Given the description of an element on the screen output the (x, y) to click on. 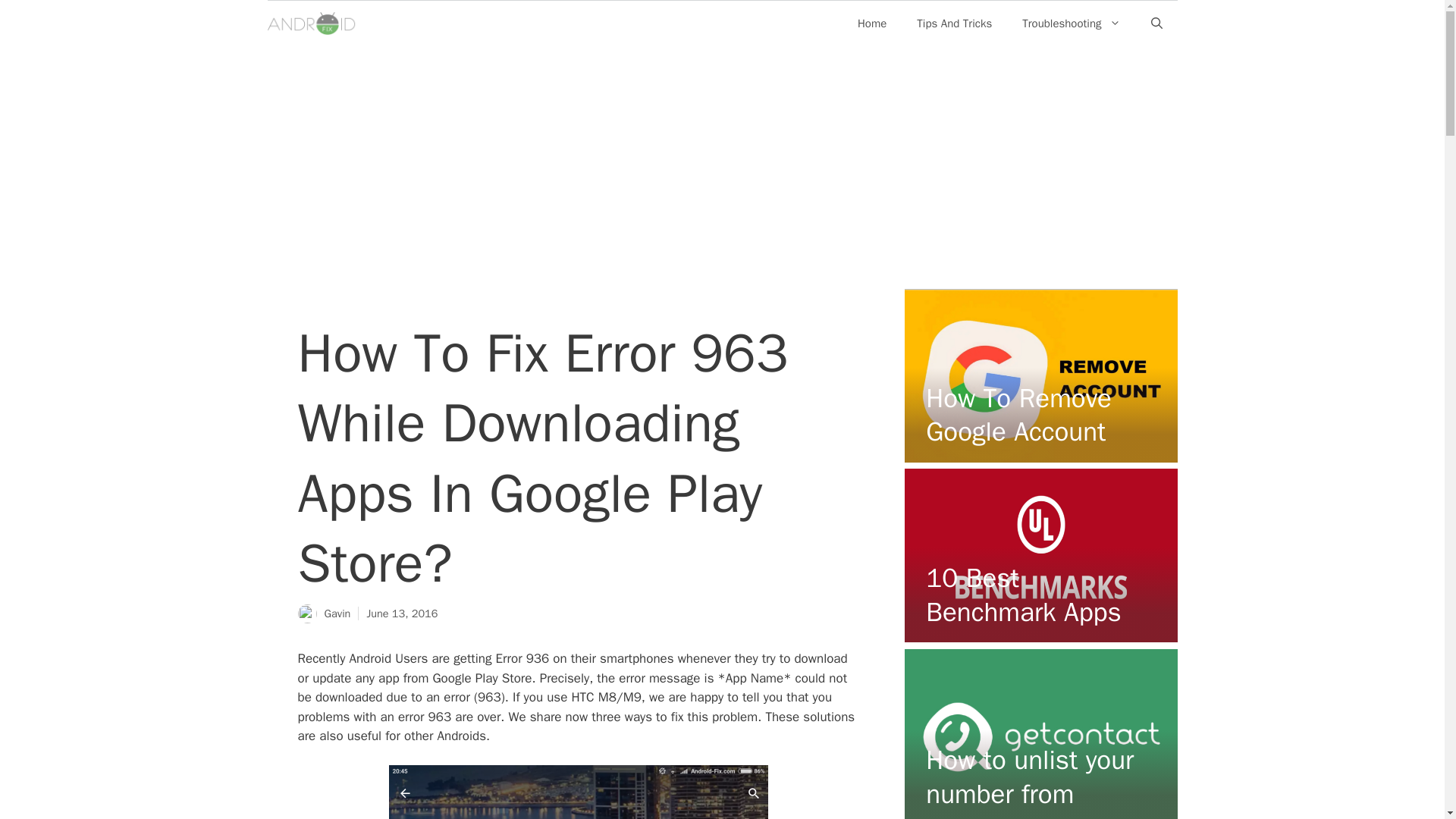
Tips And Tricks (954, 22)
How To Remove Google Account From Android (1019, 431)
Android Fix (312, 23)
Troubleshooting (1071, 22)
Gavin (337, 612)
View all posts by Gavin (337, 612)
Home (872, 22)
